Given the description of an element on the screen output the (x, y) to click on. 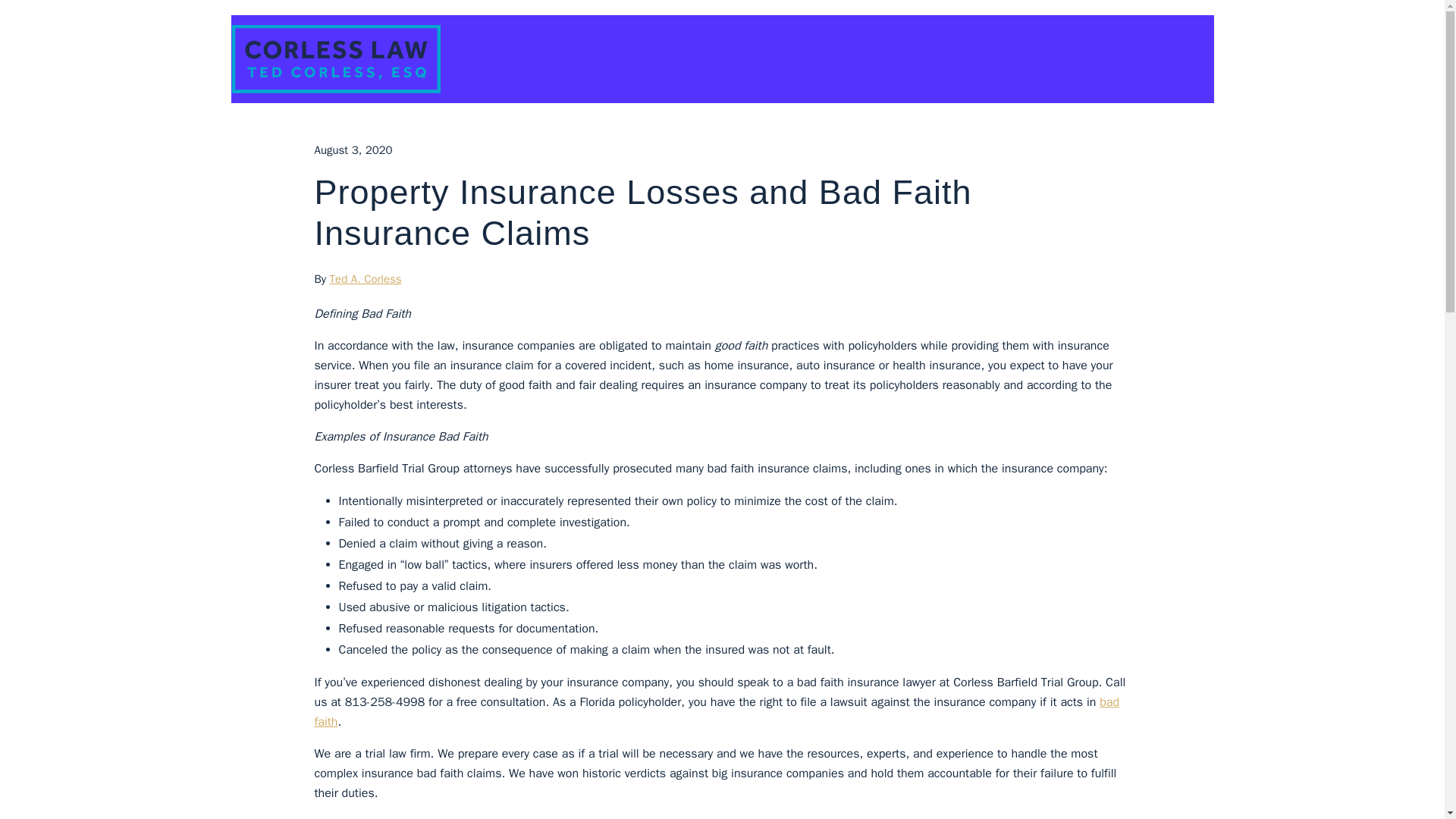
Ted A. Corless (365, 278)
bad faith (716, 711)
Posts by Ted A. Corless (365, 278)
